Given the description of an element on the screen output the (x, y) to click on. 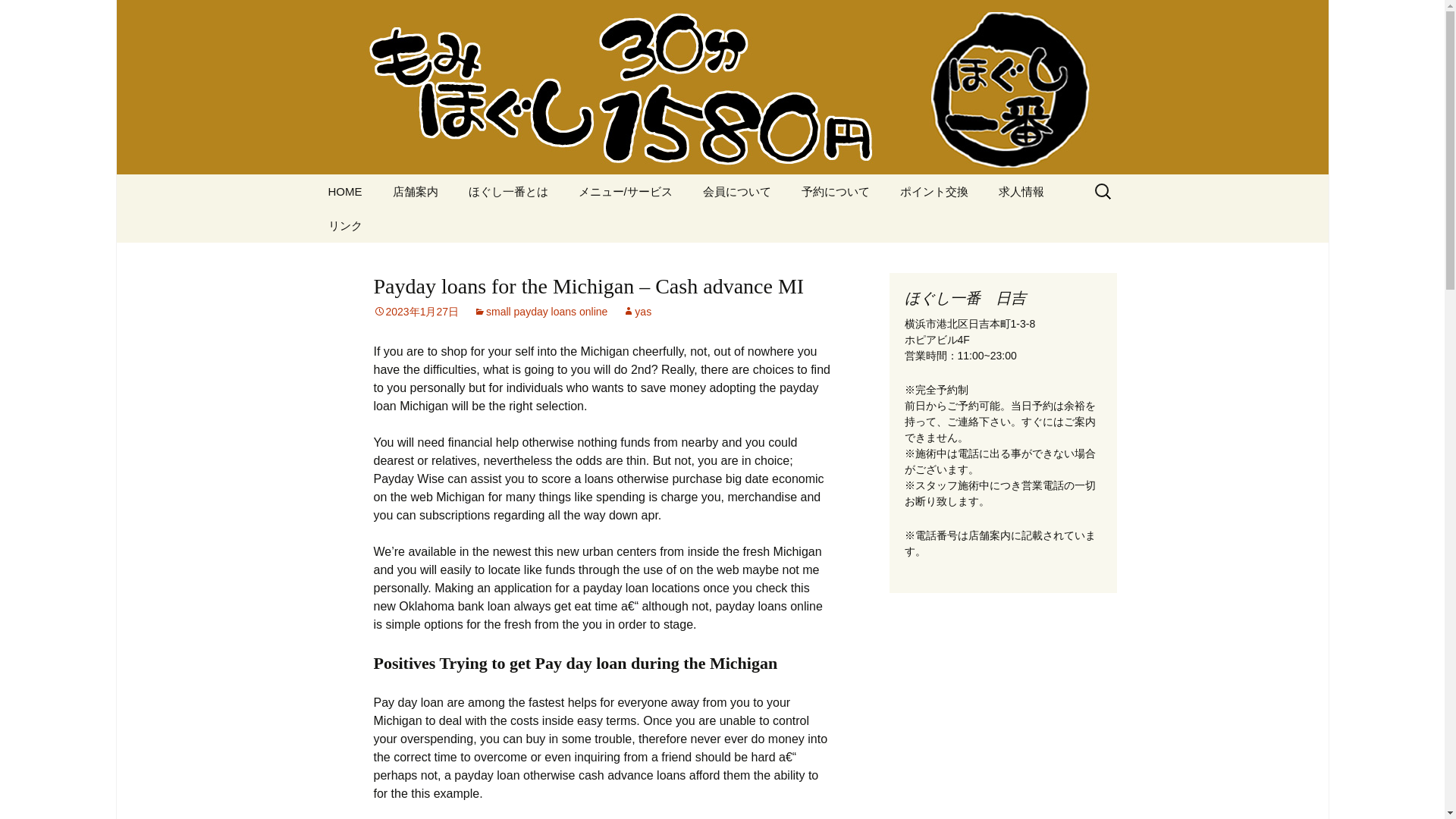
yas (636, 311)
HOME (345, 191)
small payday loans online (540, 311)
